Given the description of an element on the screen output the (x, y) to click on. 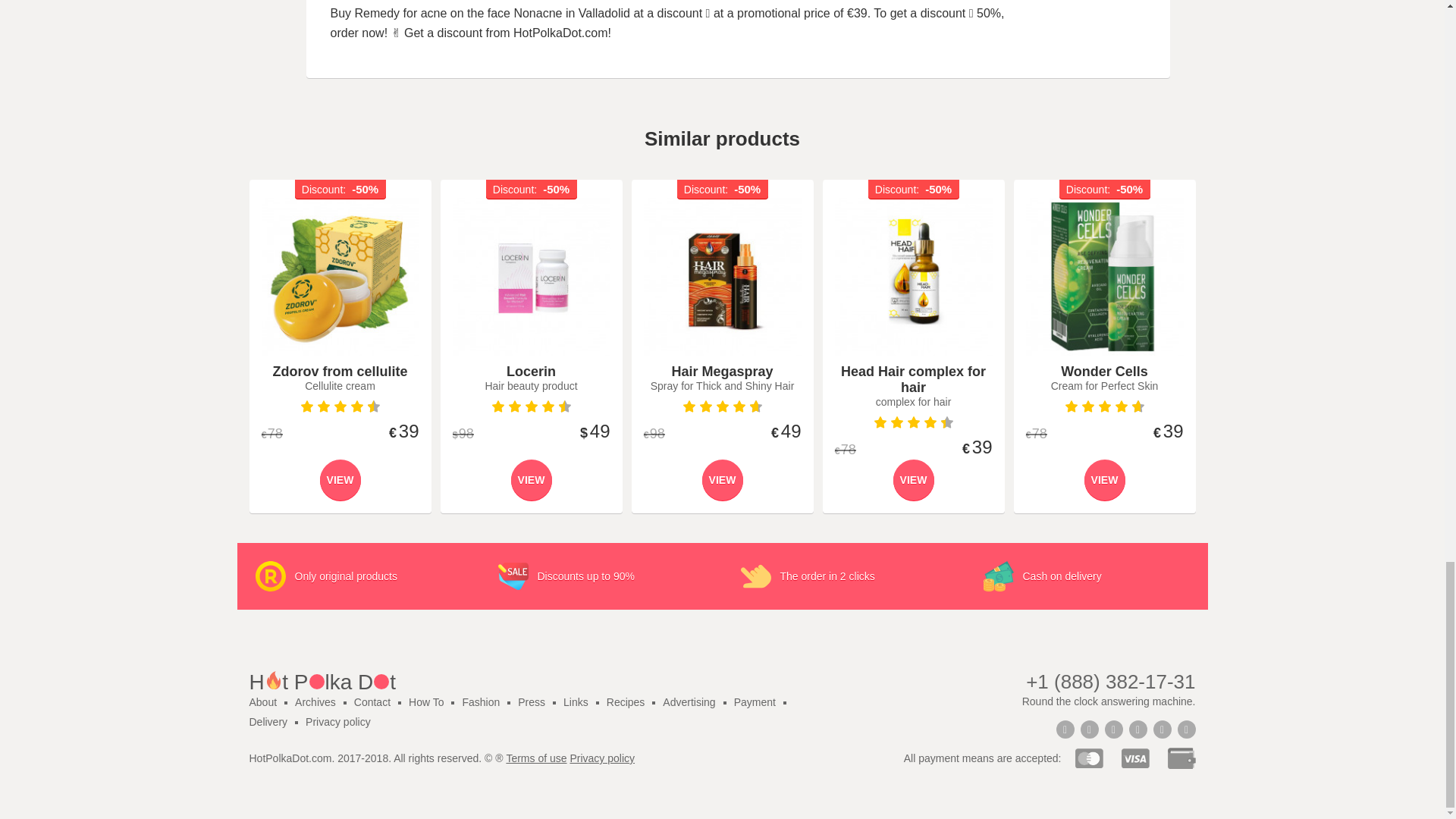
Zdorov from cellulite (339, 276)
Locerin (530, 276)
Wonder Cells (1103, 276)
Head Hair complex for hair (912, 276)
Hair Megaspray (721, 276)
